Given the description of an element on the screen output the (x, y) to click on. 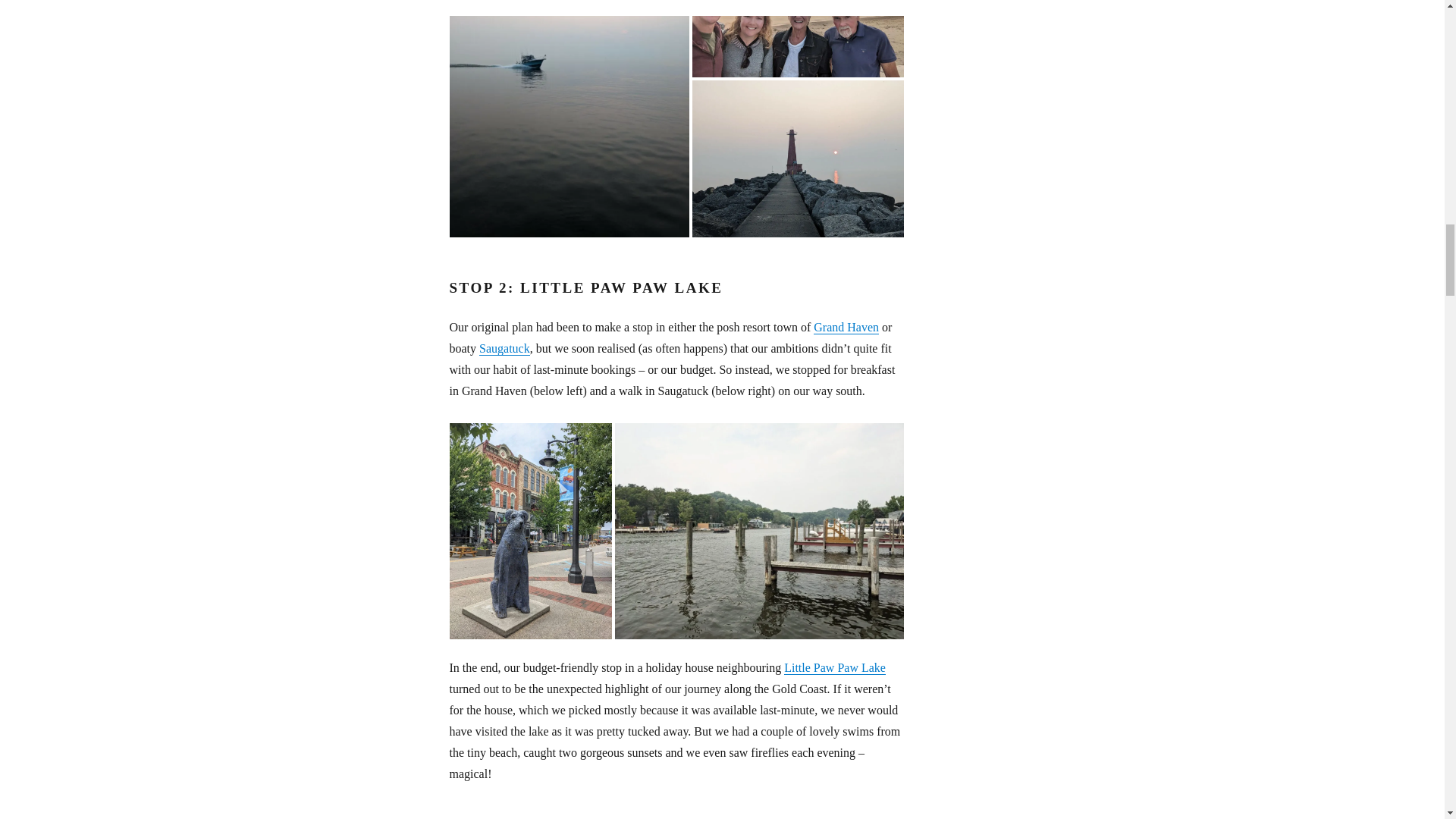
Little Paw Paw Lake (834, 667)
Saugatuck (504, 348)
Grand Haven (846, 327)
